Given the description of an element on the screen output the (x, y) to click on. 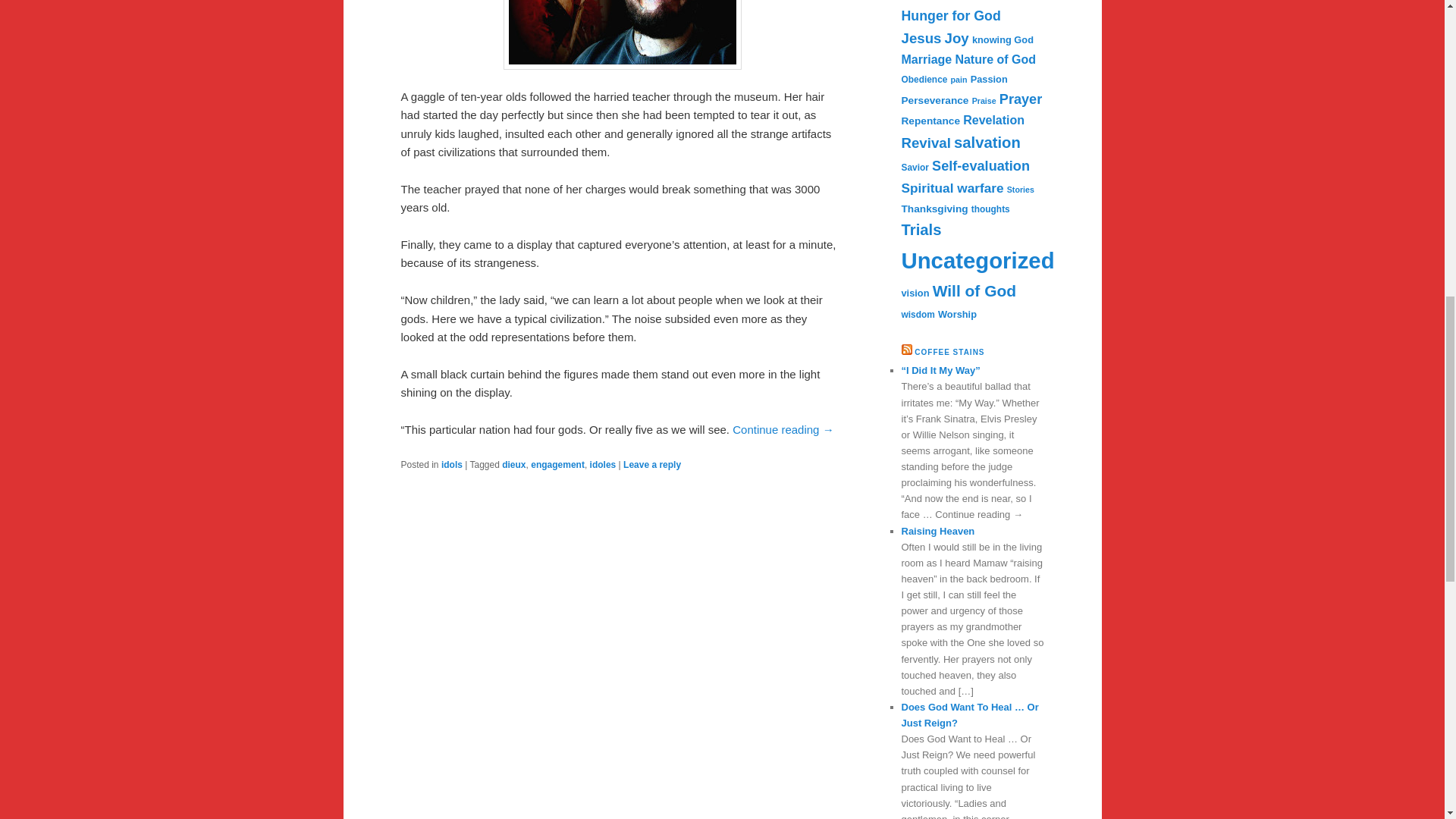
idols (452, 464)
Leave a reply (652, 464)
idoles (602, 464)
engagement (558, 464)
dieux (513, 464)
Hunger for God (950, 15)
Jesus (920, 37)
Growth (932, 0)
